Given the description of an element on the screen output the (x, y) to click on. 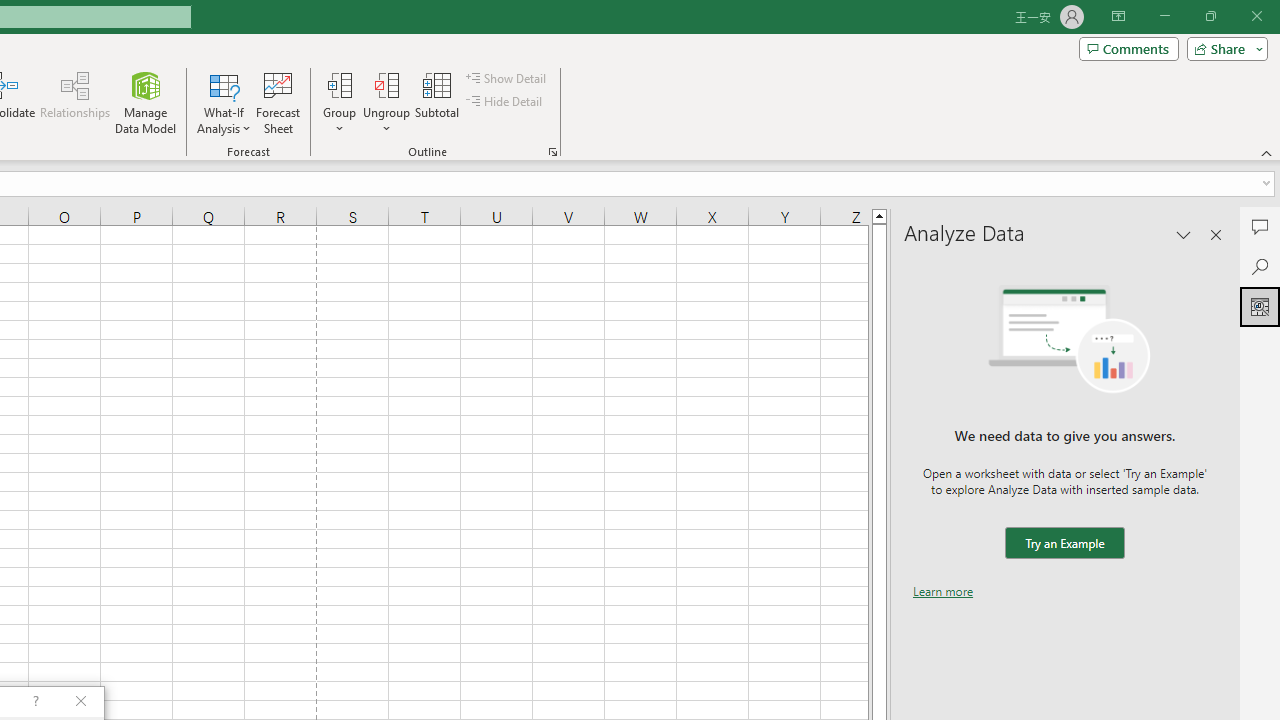
We need data to give you answers. Try an Example (1064, 543)
Relationships (75, 102)
